Given the description of an element on the screen output the (x, y) to click on. 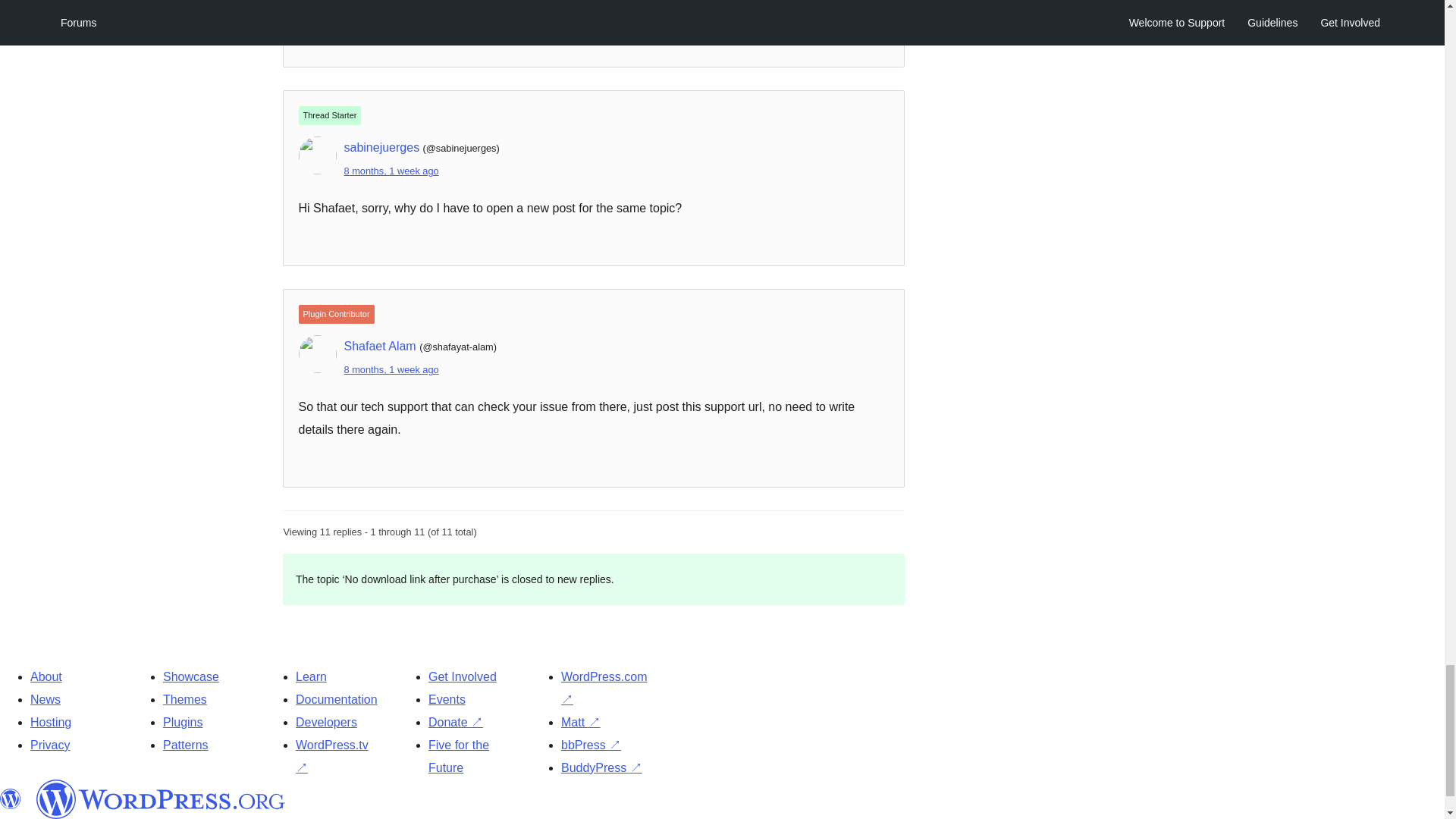
WordPress.org (10, 798)
WordPress.org (160, 799)
